Given the description of an element on the screen output the (x, y) to click on. 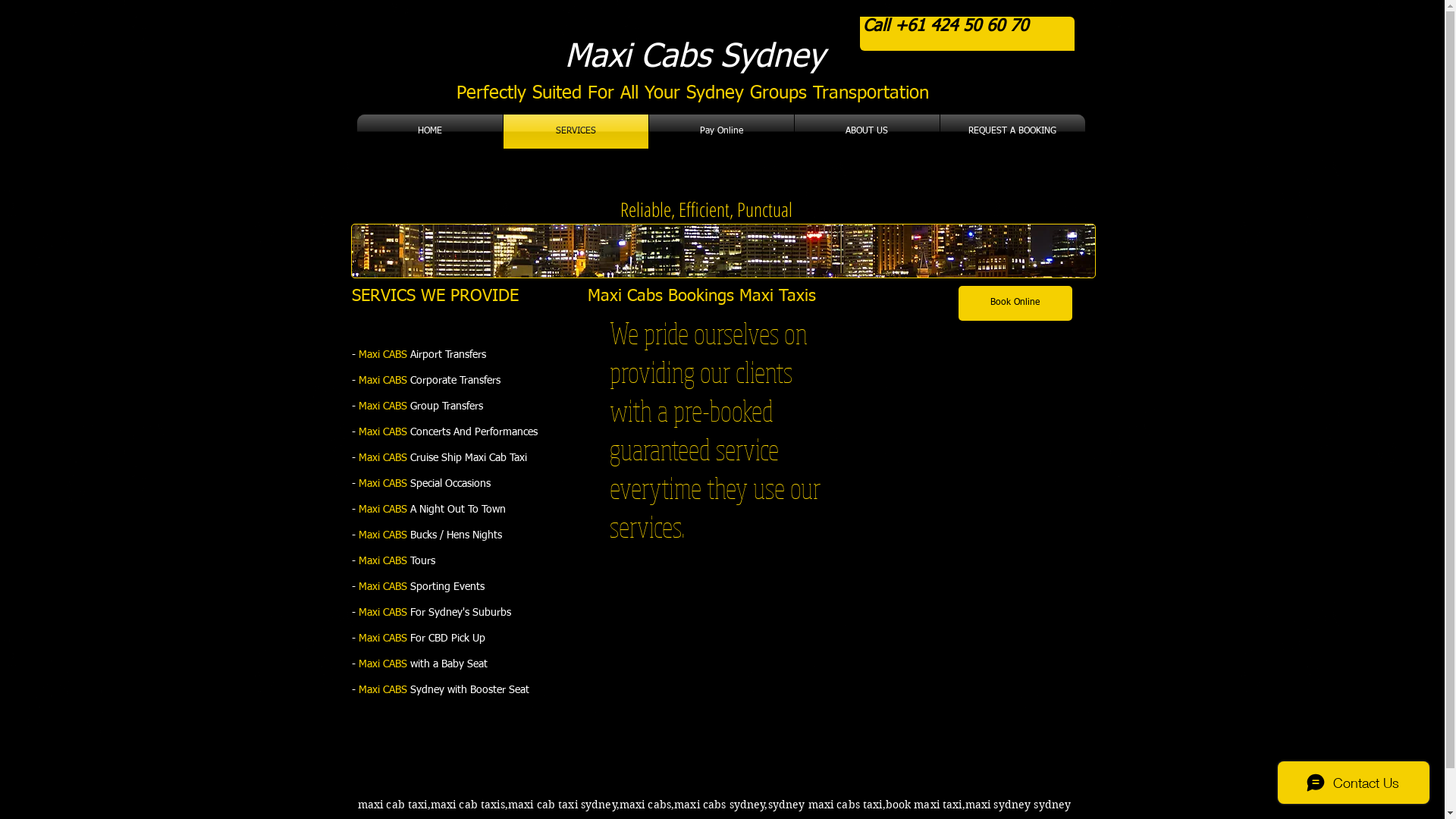
HOME Element type: text (429, 131)
Book Online Element type: text (1015, 302)
REQUEST A BOOKING Element type: text (1012, 131)
ABOUT US Element type: text (866, 131)
Pay Online Element type: text (721, 131)
har1.jpg Element type: hover (722, 250)
SERVICES Element type: text (575, 131)
WEB-STAT Element type: hover (908, 431)
